Given the description of an element on the screen output the (x, y) to click on. 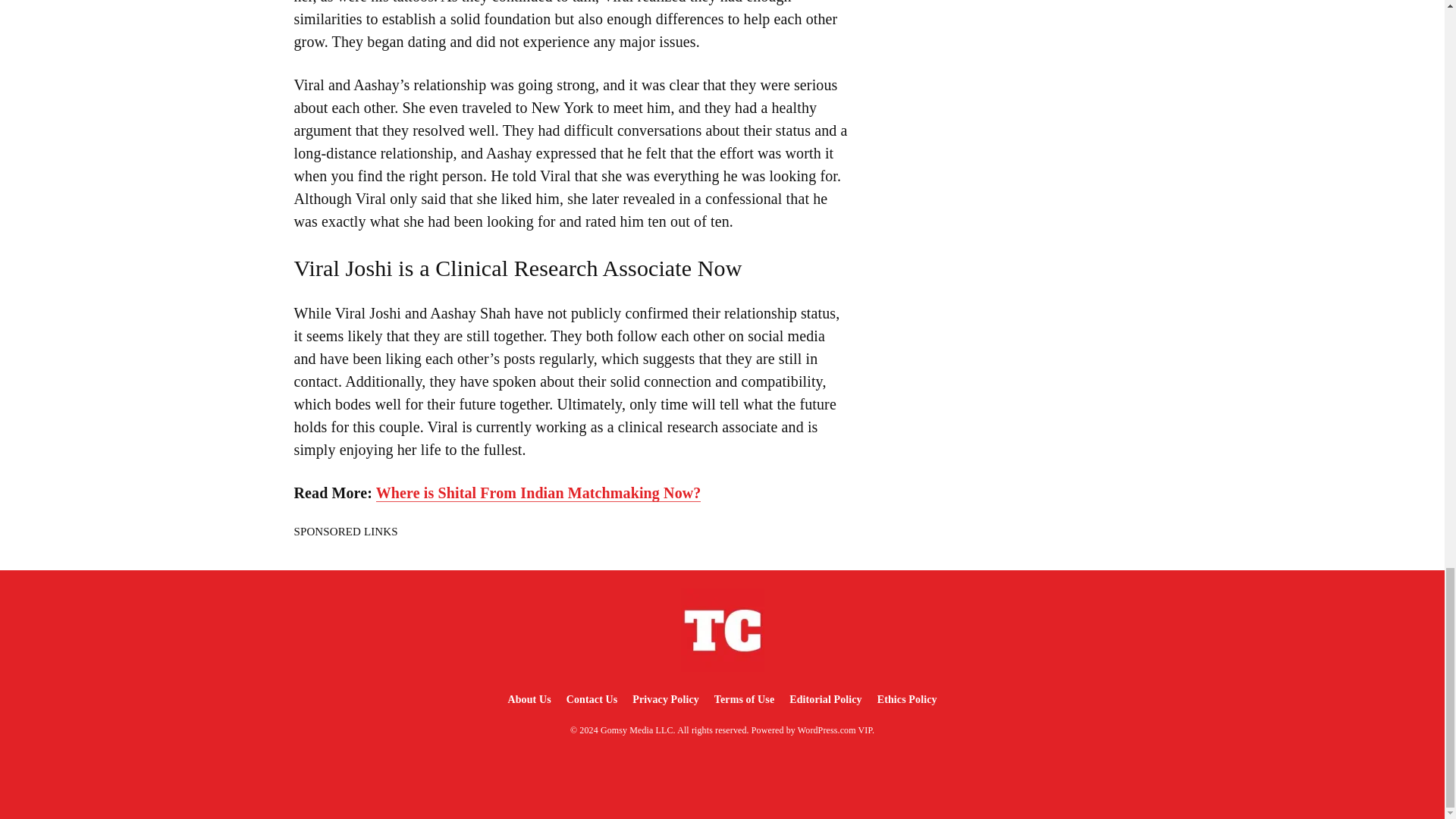
Contact Us (592, 699)
About Us (528, 699)
Ethics Policy (906, 699)
WordPress.com VIP (834, 729)
Privacy Policy (665, 699)
Terms of Use (743, 699)
Editorial Policy (825, 699)
Where is Shital From Indian Matchmaking Now? (538, 493)
